Given the description of an element on the screen output the (x, y) to click on. 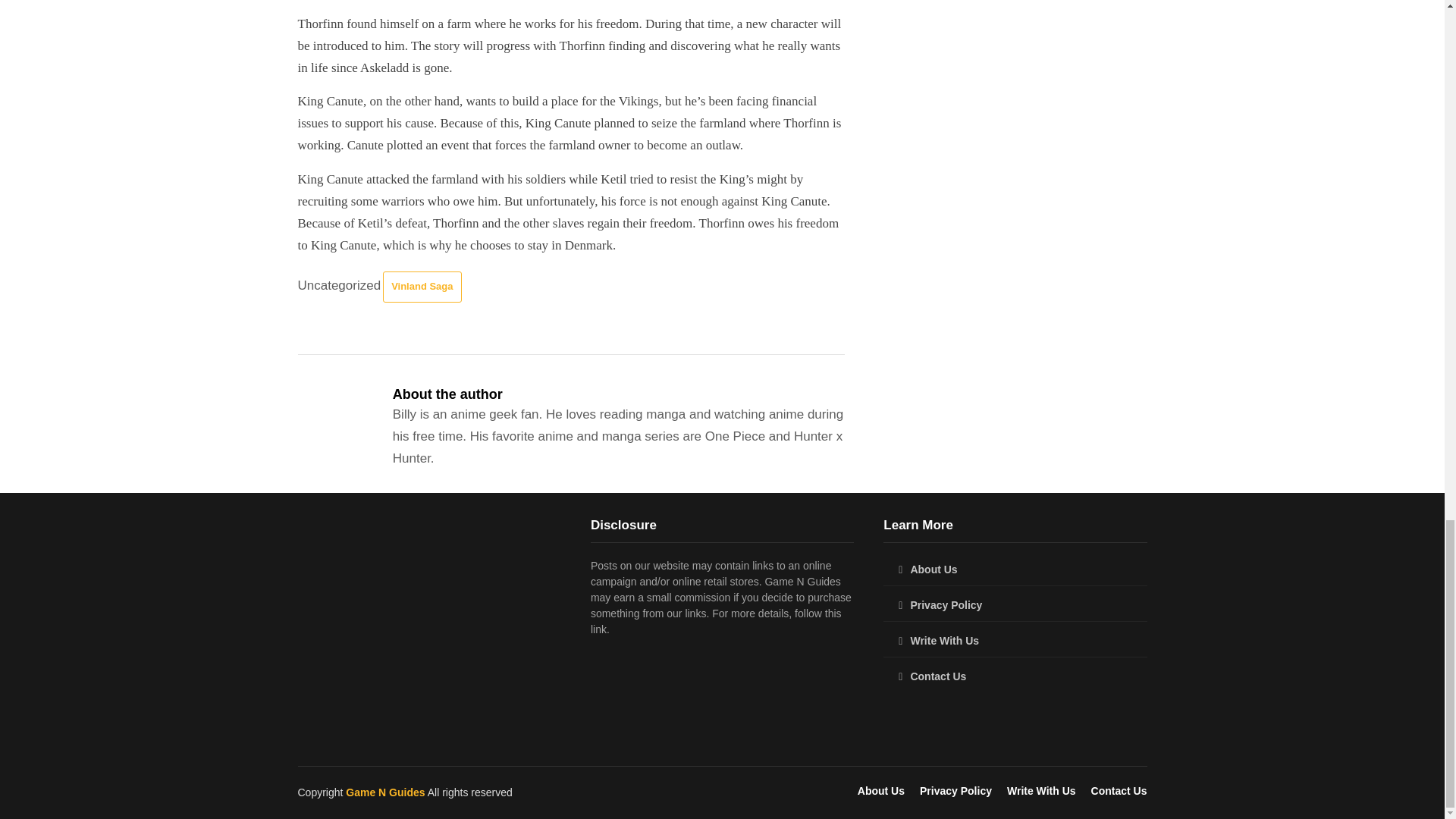
About Us (880, 790)
Write With Us (1015, 641)
About Us (1015, 569)
Game N Guides (385, 792)
Contact Us (1015, 676)
Vinland Saga (421, 286)
Privacy Policy (1015, 605)
Privacy Policy (955, 790)
